Given the description of an element on the screen output the (x, y) to click on. 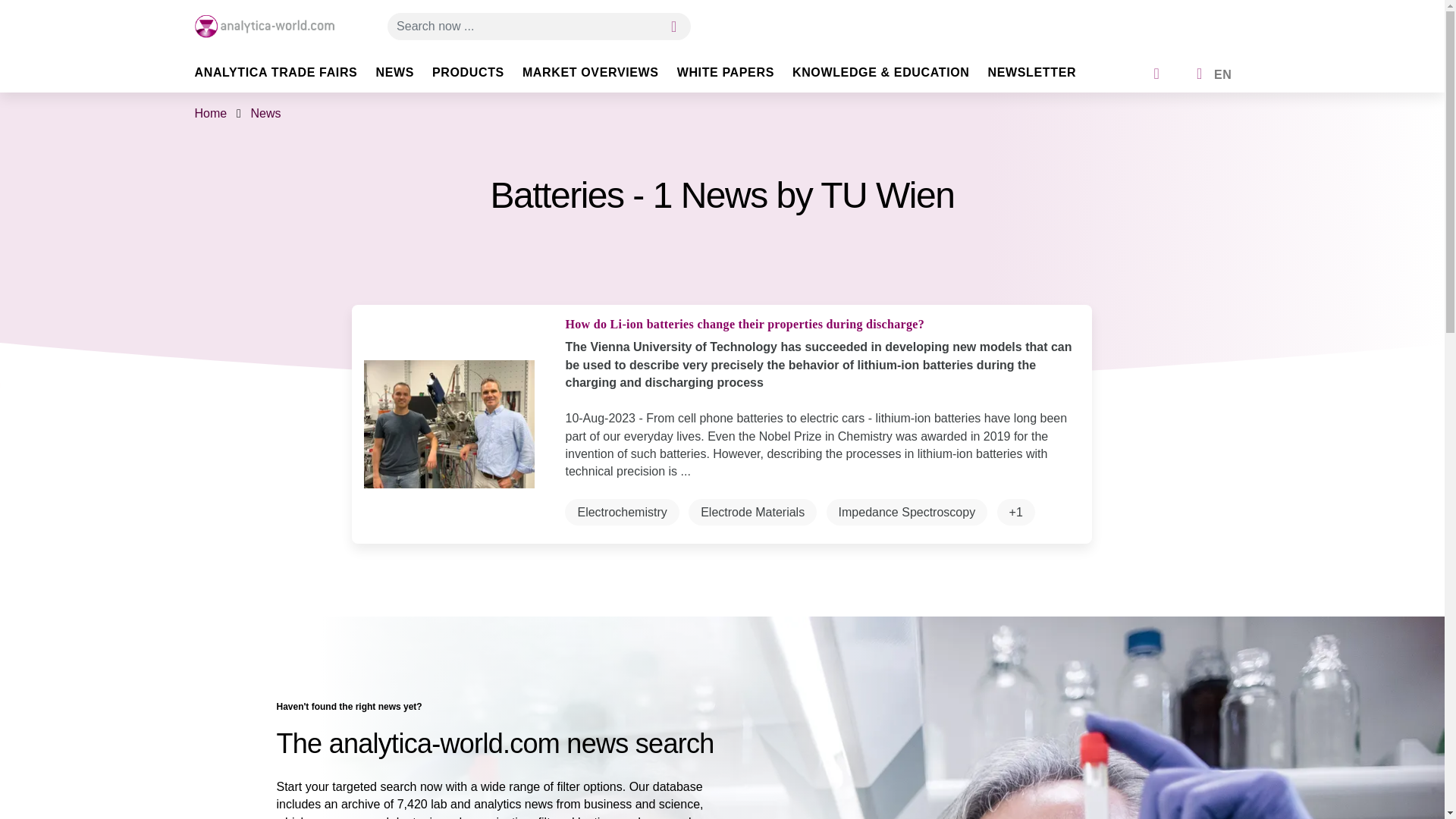
NEWS (403, 78)
PRODUCTS (477, 78)
ANALYTICA TRADE FAIRS (284, 78)
